Given the description of an element on the screen output the (x, y) to click on. 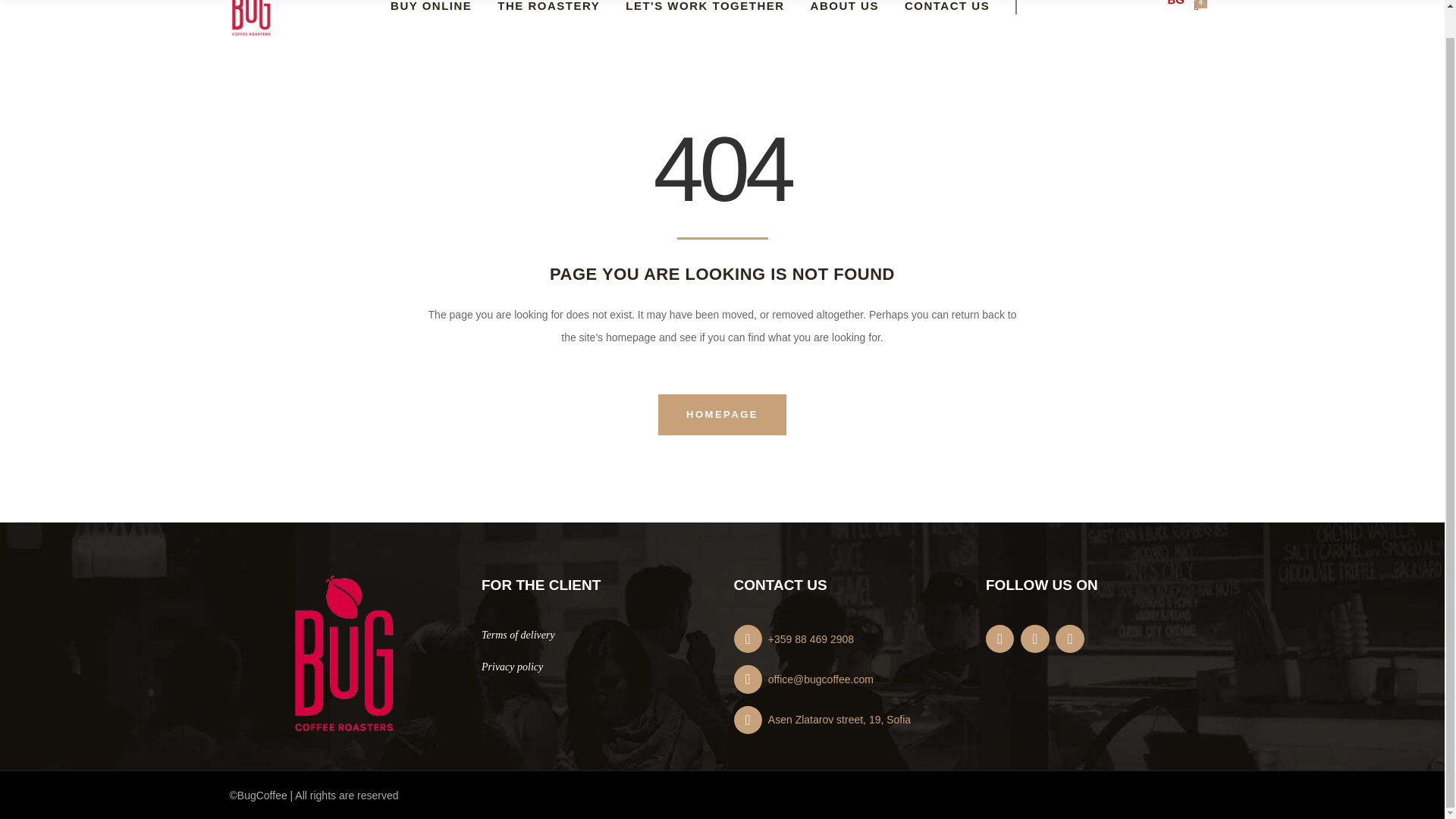
Terms of delivery (517, 634)
BUY ONLINE (430, 19)
Asen Zlatarov street, 19, Sofia (848, 719)
THE ROASTERY (548, 19)
LET'S WORK TOGETHER (704, 19)
0 (1198, 7)
BG (1176, 4)
Privacy policy (512, 666)
HOMEPAGE (722, 413)
CONTACT US (960, 19)
ABOUT US (844, 19)
